Given the description of an element on the screen output the (x, y) to click on. 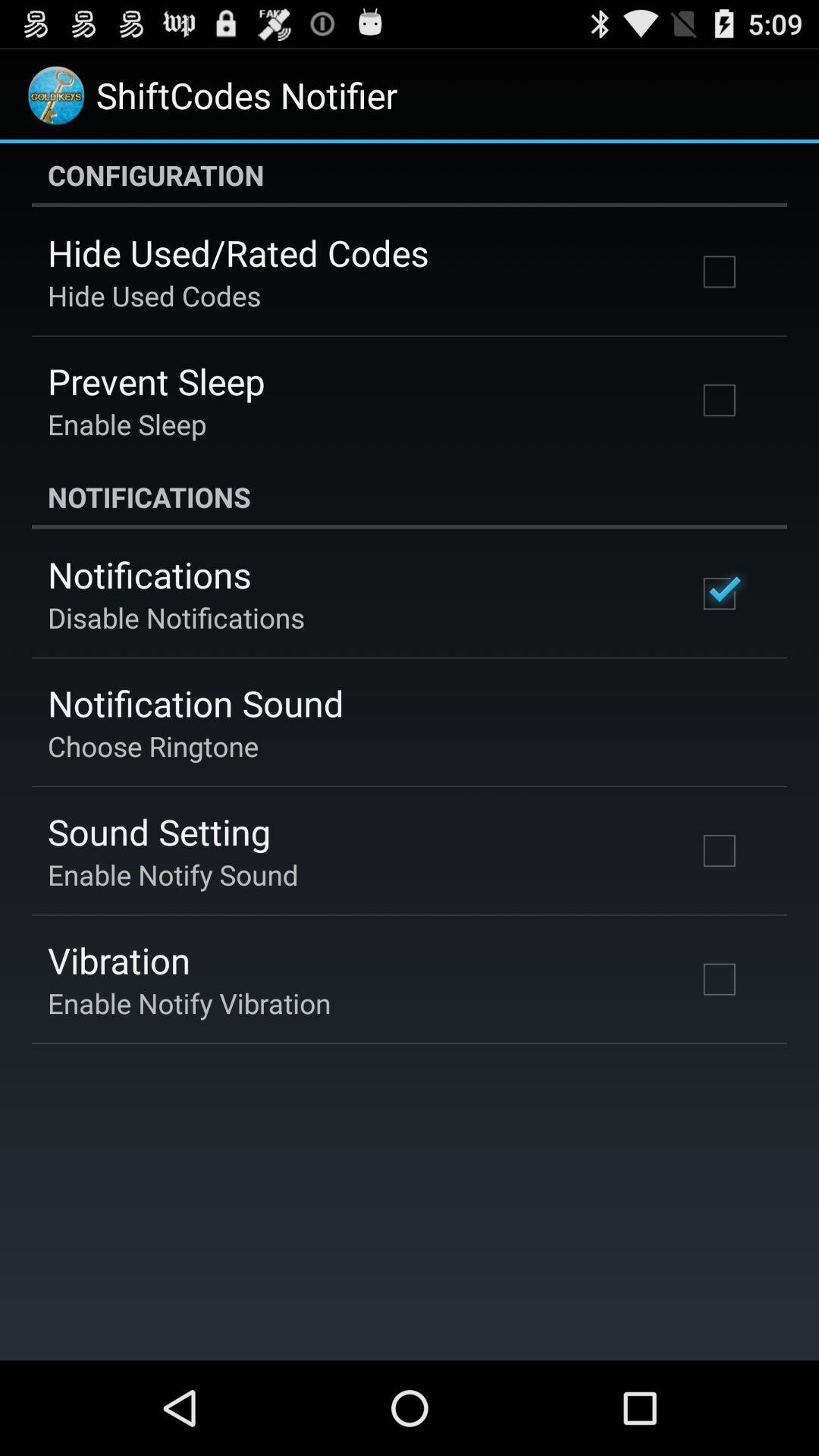
open the icon below choose ringtone icon (158, 831)
